Given the description of an element on the screen output the (x, y) to click on. 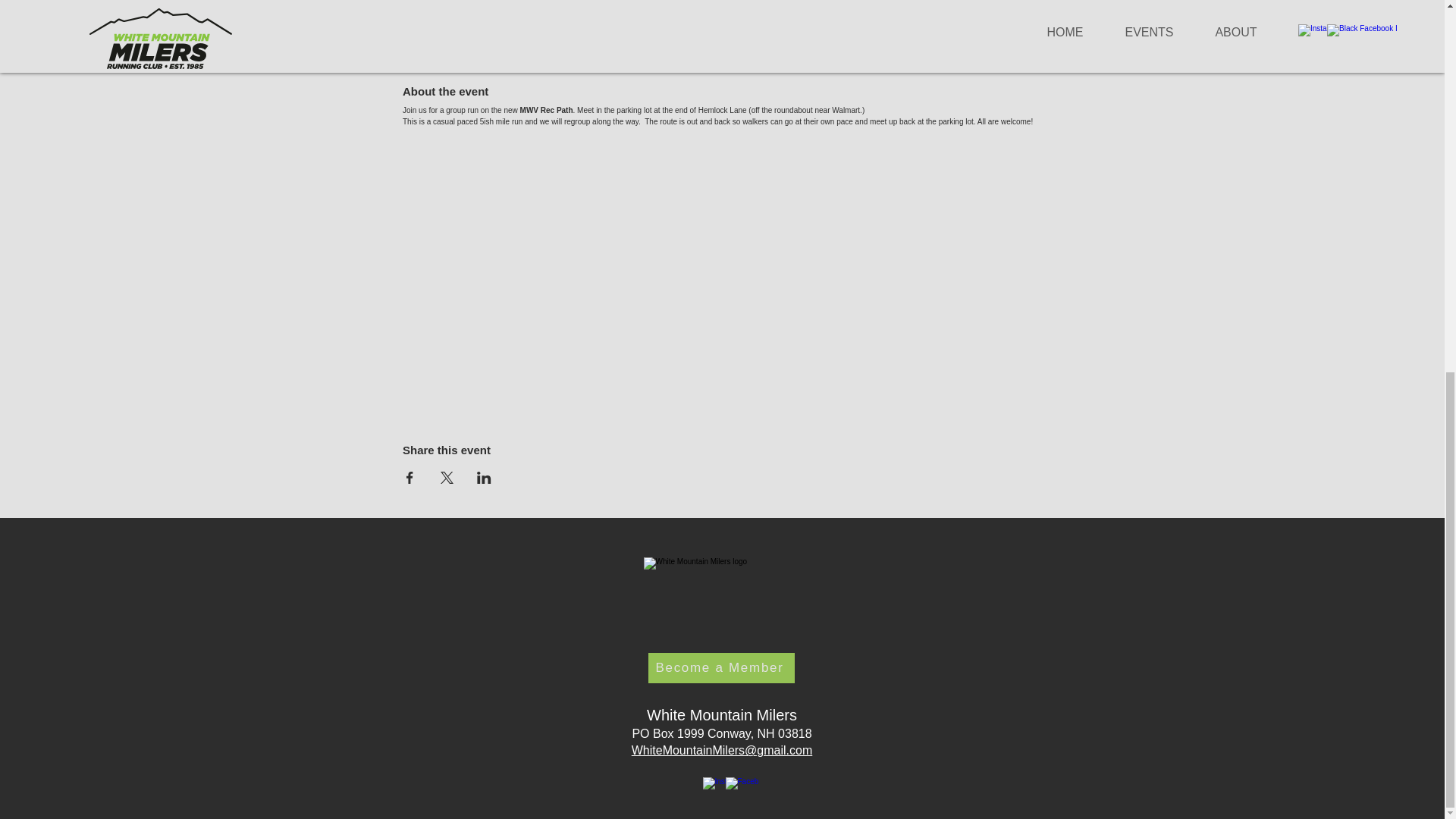
Become a Member (720, 667)
